Given the description of an element on the screen output the (x, y) to click on. 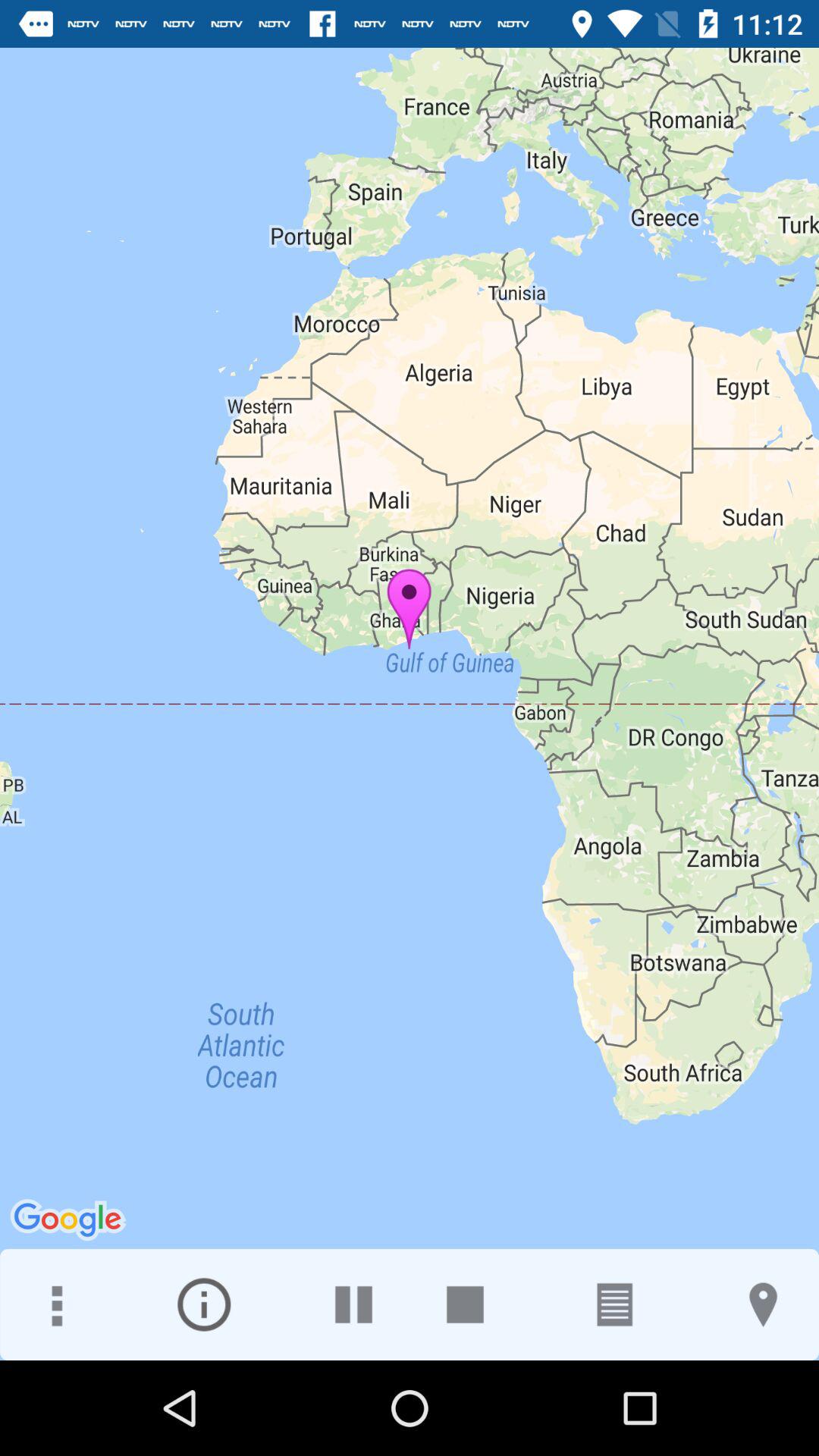
turn on the icon at the center (409, 703)
